Given the description of an element on the screen output the (x, y) to click on. 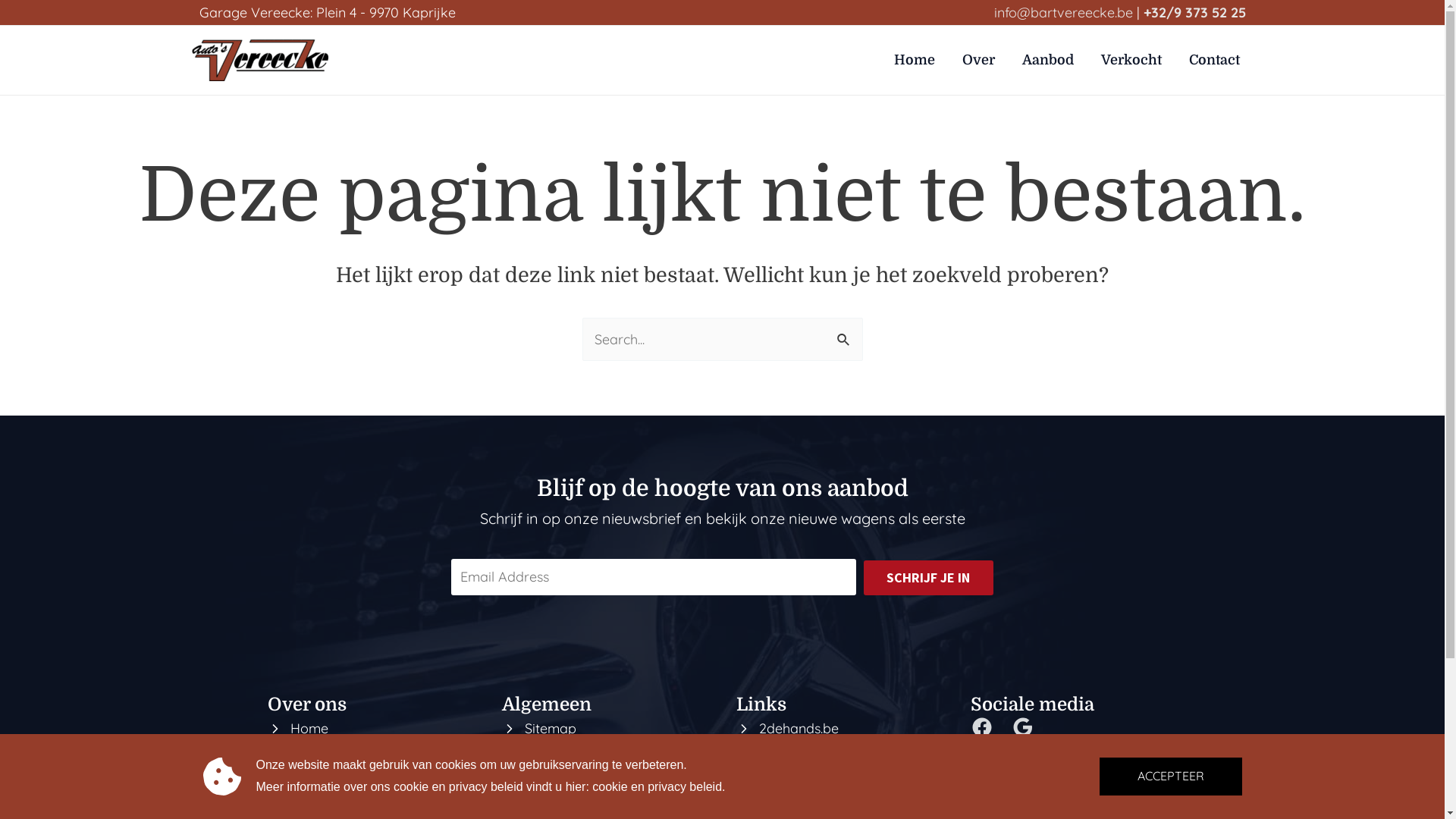
Aanbod Element type: text (1047, 59)
Privacy Policy Element type: text (568, 757)
Google Element type: text (1022, 726)
ACCEPTEER Element type: text (1170, 776)
Autogids.be Element type: text (794, 786)
Sitemap Element type: text (550, 728)
2dehands.be Element type: text (797, 728)
SCHRIJF JE IN Element type: text (928, 577)
Home Element type: text (308, 727)
+32/9 373 52 25 Element type: text (1194, 12)
Over Element type: text (977, 59)
Facebook Element type: text (981, 726)
Zoeken Element type: text (845, 334)
Home Element type: text (913, 59)
info@bartvereecke.be Element type: text (1062, 12)
Contact Element type: text (1214, 59)
Autoscout24.be Element type: text (805, 757)
Verkocht Element type: text (1131, 59)
Contact Element type: text (313, 786)
Over ons Element type: text (317, 757)
cookie en privacy beleid Element type: text (656, 786)
